Given the description of an element on the screen output the (x, y) to click on. 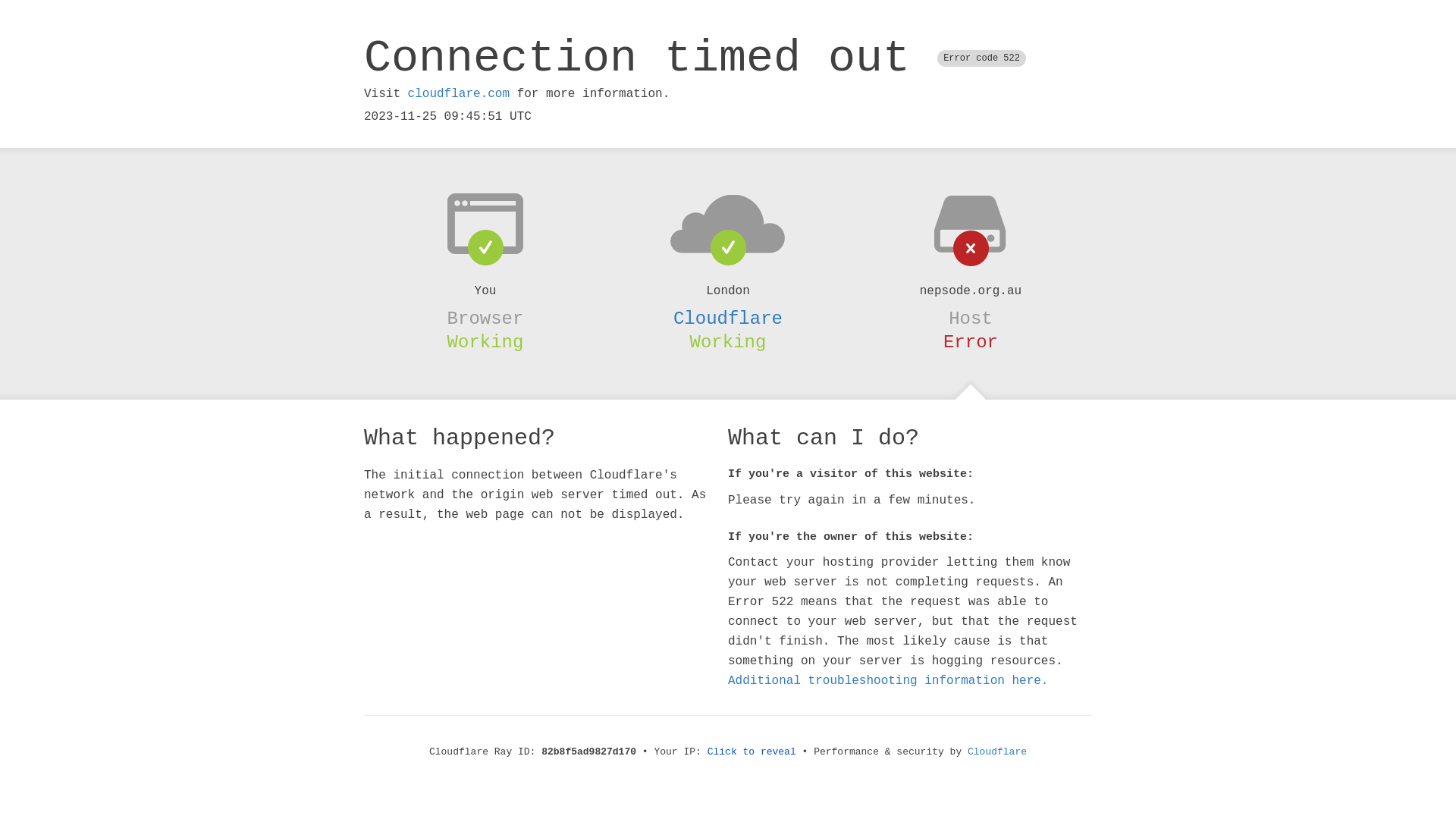
Click to reveal Element type: text (751, 751)
Cloudflare Element type: text (996, 751)
cloudflare.com Element type: text (458, 93)
Additional troubleshooting information here. Element type: text (888, 680)
Cloudflare Element type: text (727, 318)
